Given the description of an element on the screen output the (x, y) to click on. 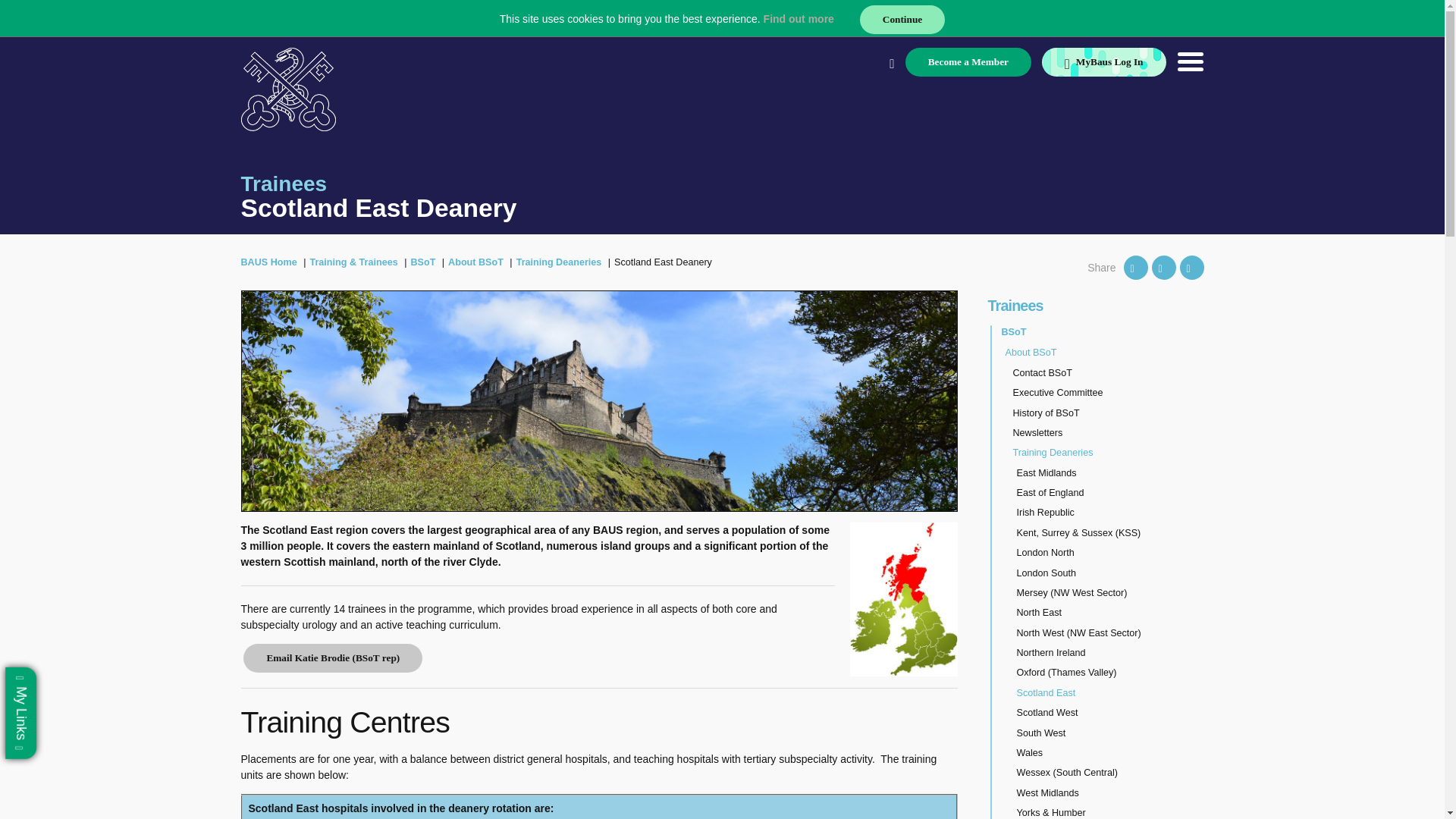
Share on Facebook (1162, 267)
Share on Twitter (1136, 267)
Skip to main content (21, 21)
Continue (902, 19)
Find out more (798, 19)
Become a Member (967, 61)
Share by Email (1191, 267)
MyBaus Log In (1104, 61)
Continue (902, 19)
